Given the description of an element on the screen output the (x, y) to click on. 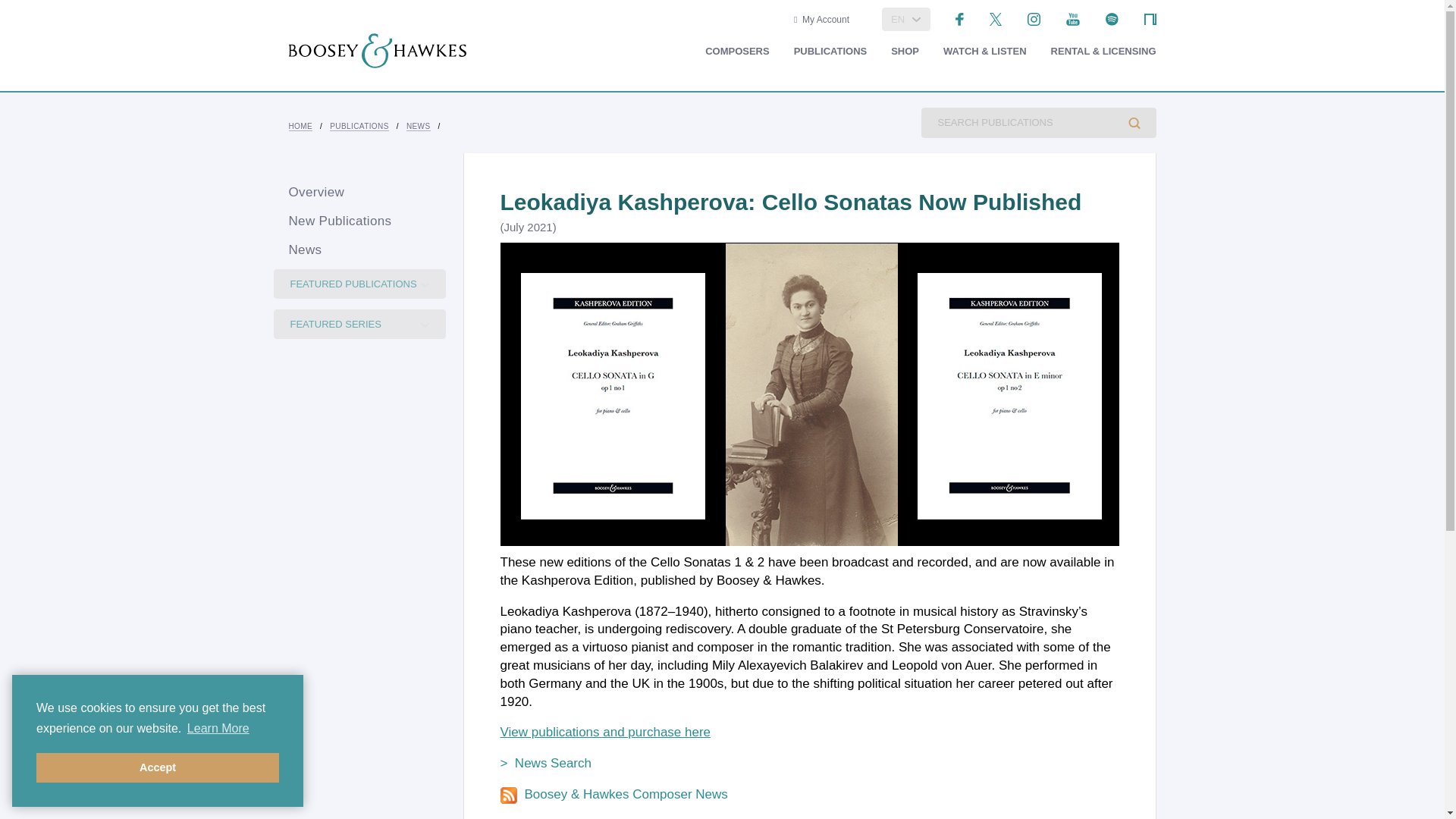
View Our YouTube Channel (1072, 18)
Follow us on Instagram (1034, 18)
Follow us on Twitter (996, 18)
Accept (157, 767)
  My Account (820, 19)
PUBLICATIONS (830, 51)
Learn More (217, 728)
COMPOSERS (737, 51)
SHOP (904, 51)
Listen on Spotify (1111, 18)
